Given the description of an element on the screen output the (x, y) to click on. 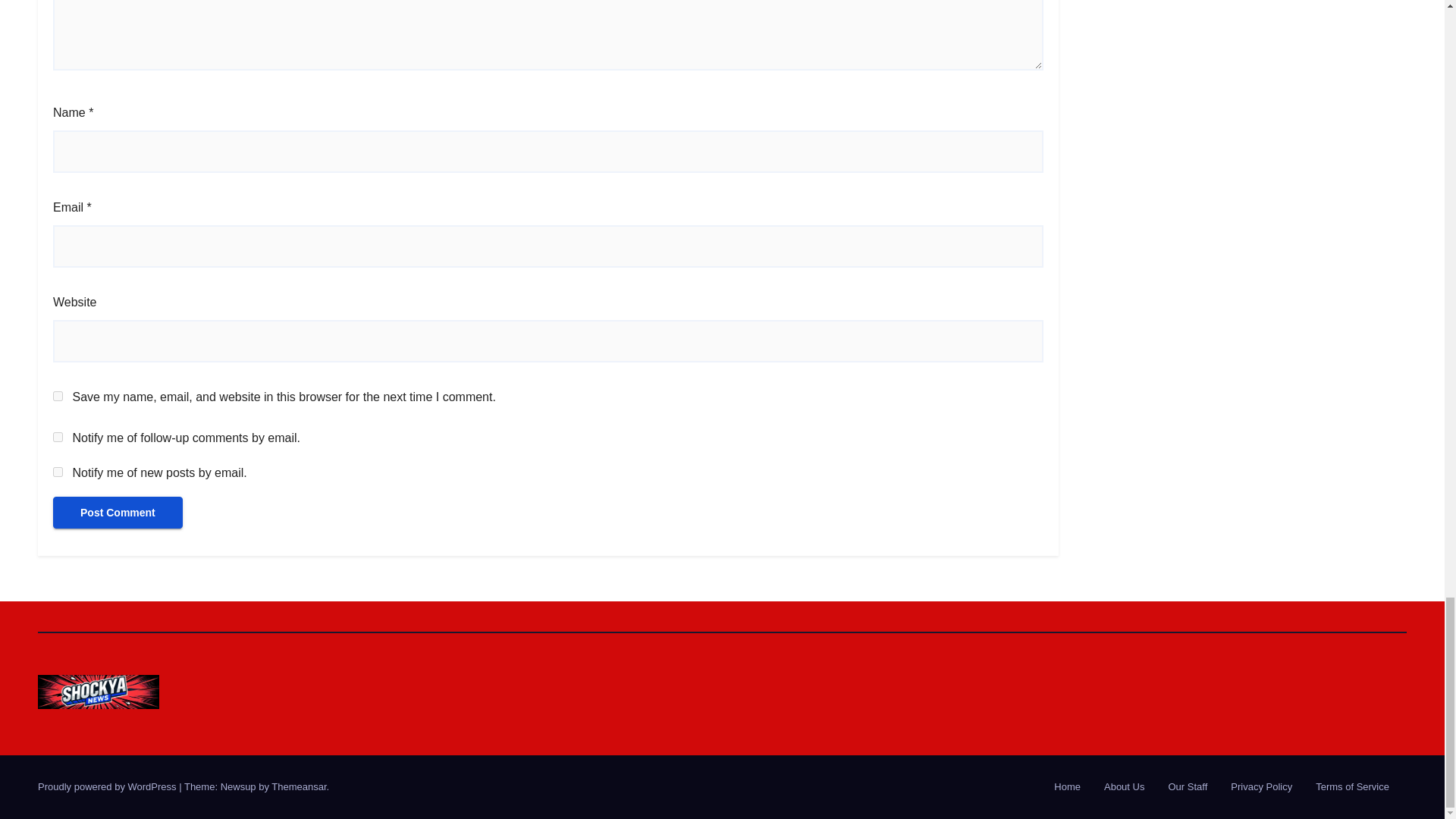
subscribe (57, 471)
yes (57, 396)
Home (1067, 786)
Post Comment (117, 512)
subscribe (57, 437)
Post Comment (117, 512)
